Given the description of an element on the screen output the (x, y) to click on. 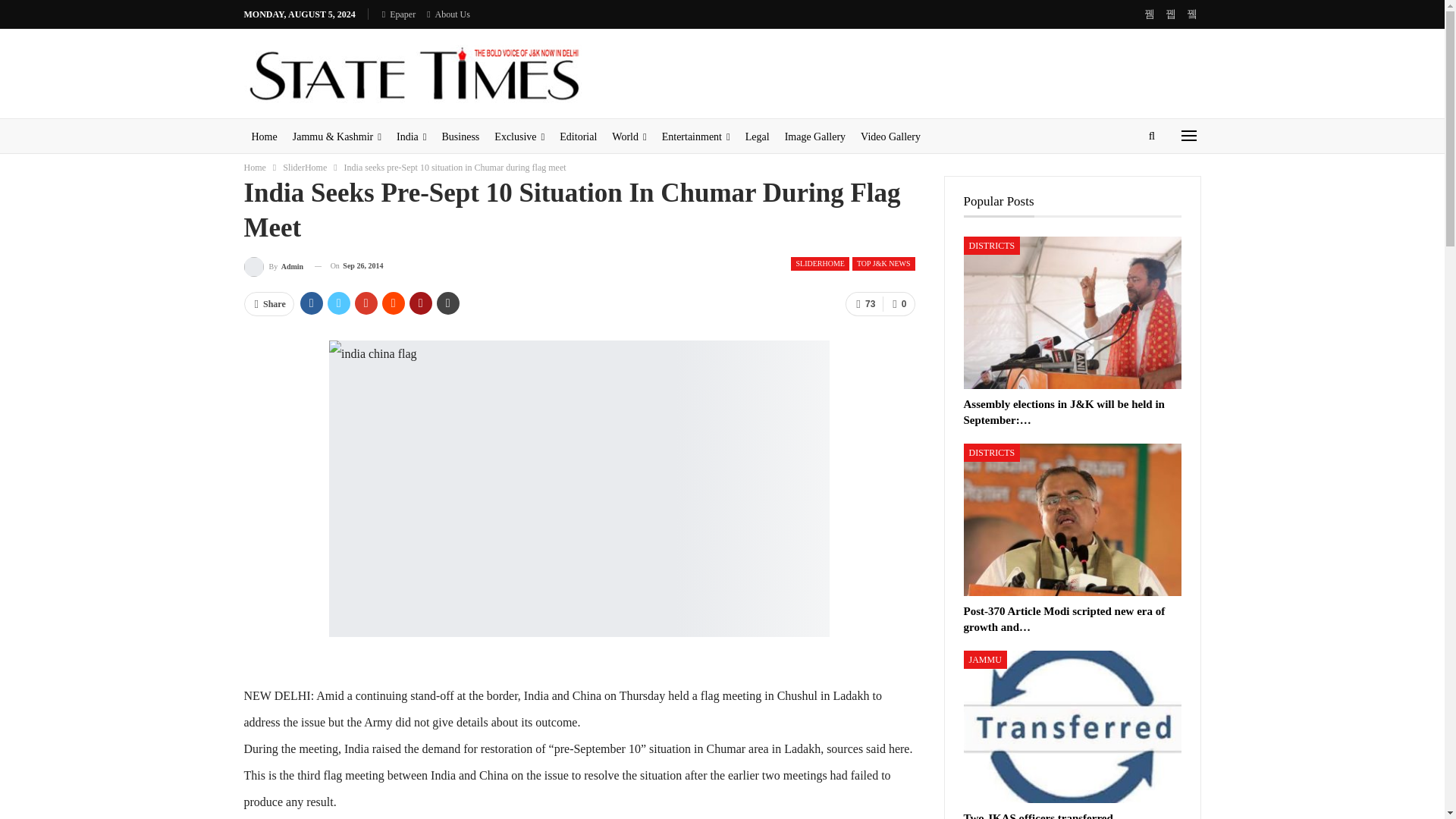
Epaper (397, 14)
